Given the description of an element on the screen output the (x, y) to click on. 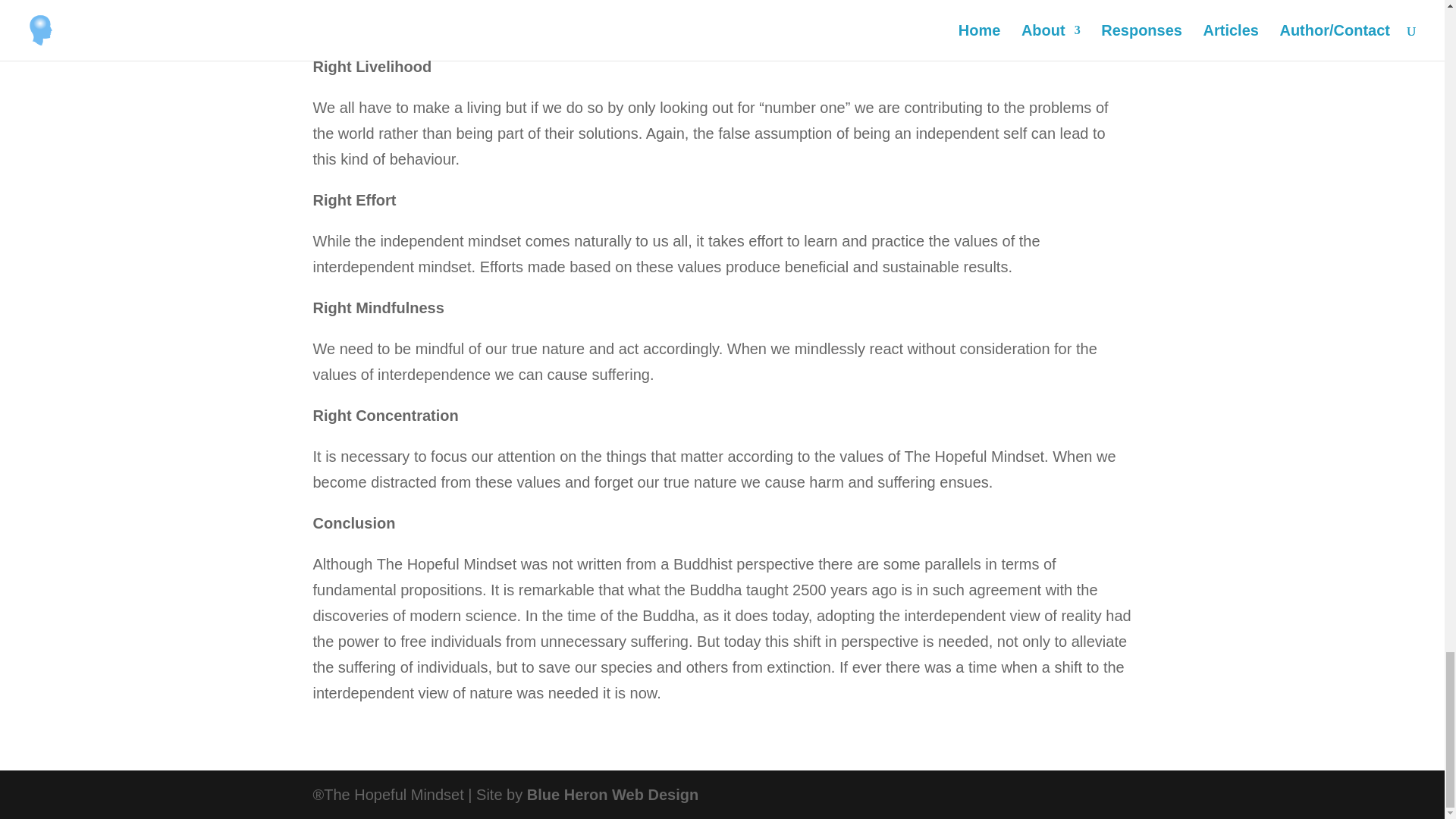
Blue Heron Web Design (612, 794)
